Given the description of an element on the screen output the (x, y) to click on. 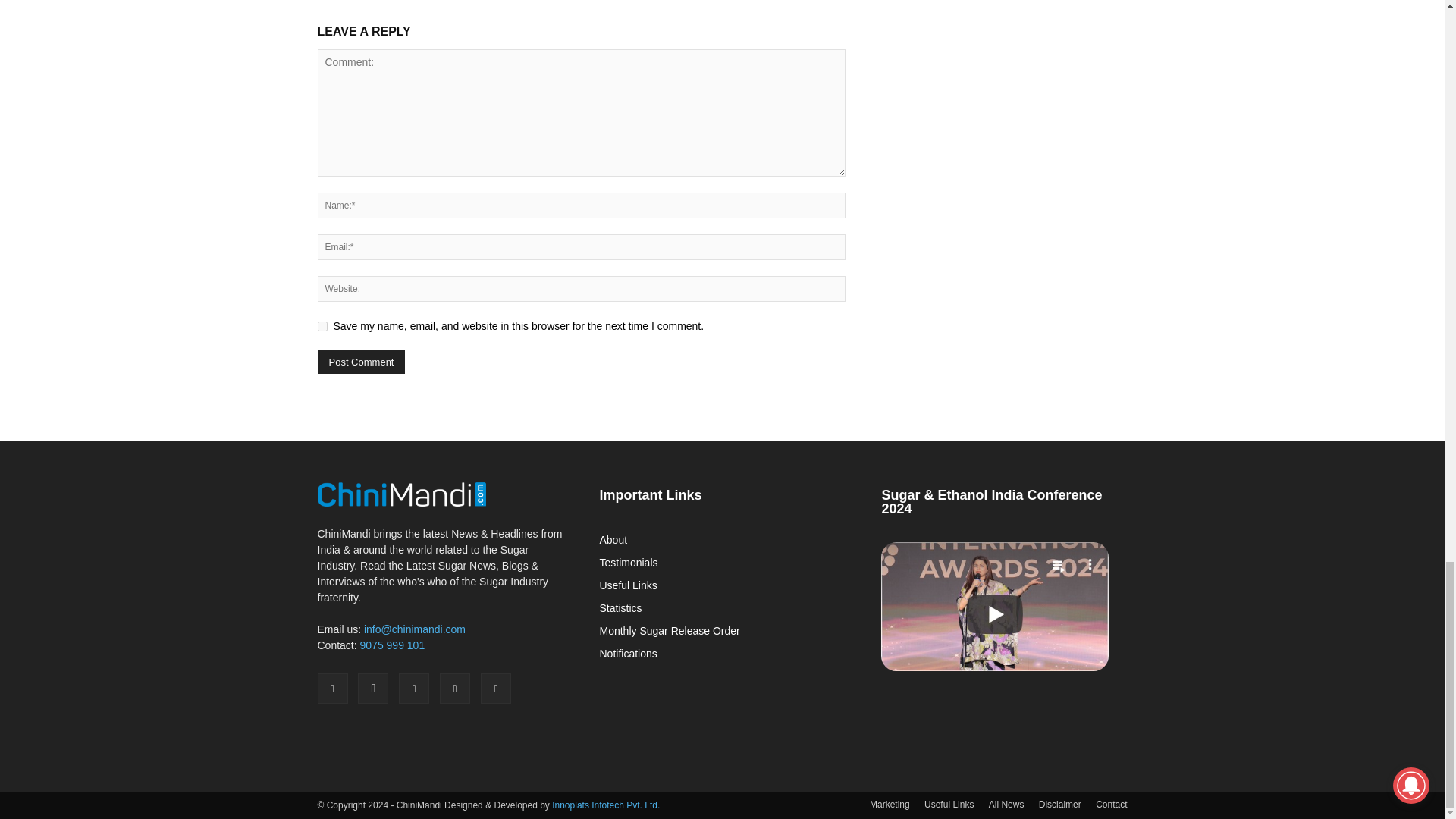
Post Comment (360, 361)
yes (321, 326)
